Given the description of an element on the screen output the (x, y) to click on. 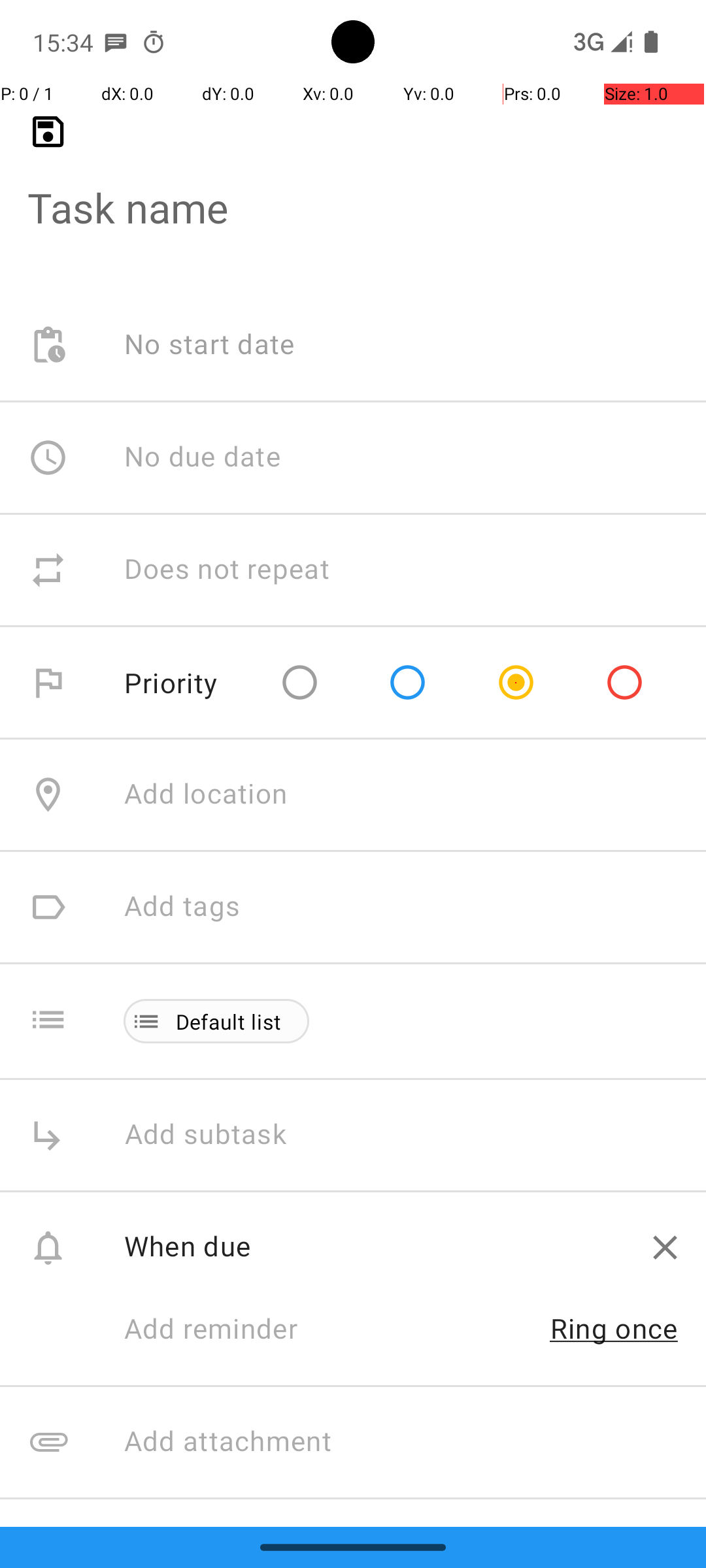
Ring once Element type: android.widget.TextView (613, 1328)
When due Element type: android.widget.TextView (373, 1245)
